Given the description of an element on the screen output the (x, y) to click on. 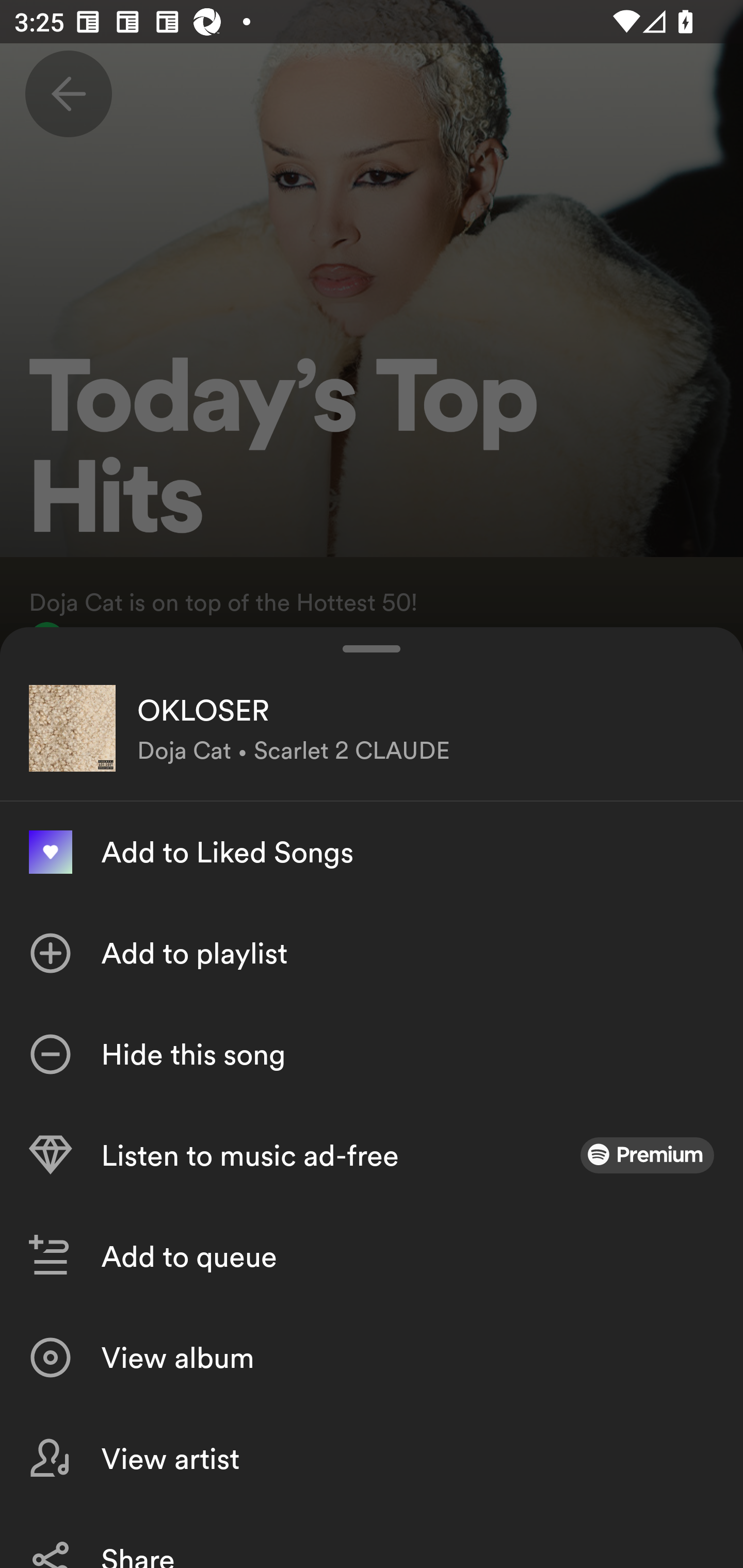
Add to Liked Songs (371, 852)
Add to playlist (371, 953)
Hide this song (371, 1054)
Listen to music ad-free (371, 1155)
Add to queue (371, 1256)
View album (371, 1357)
View artist (371, 1458)
Share (371, 1538)
